Given the description of an element on the screen output the (x, y) to click on. 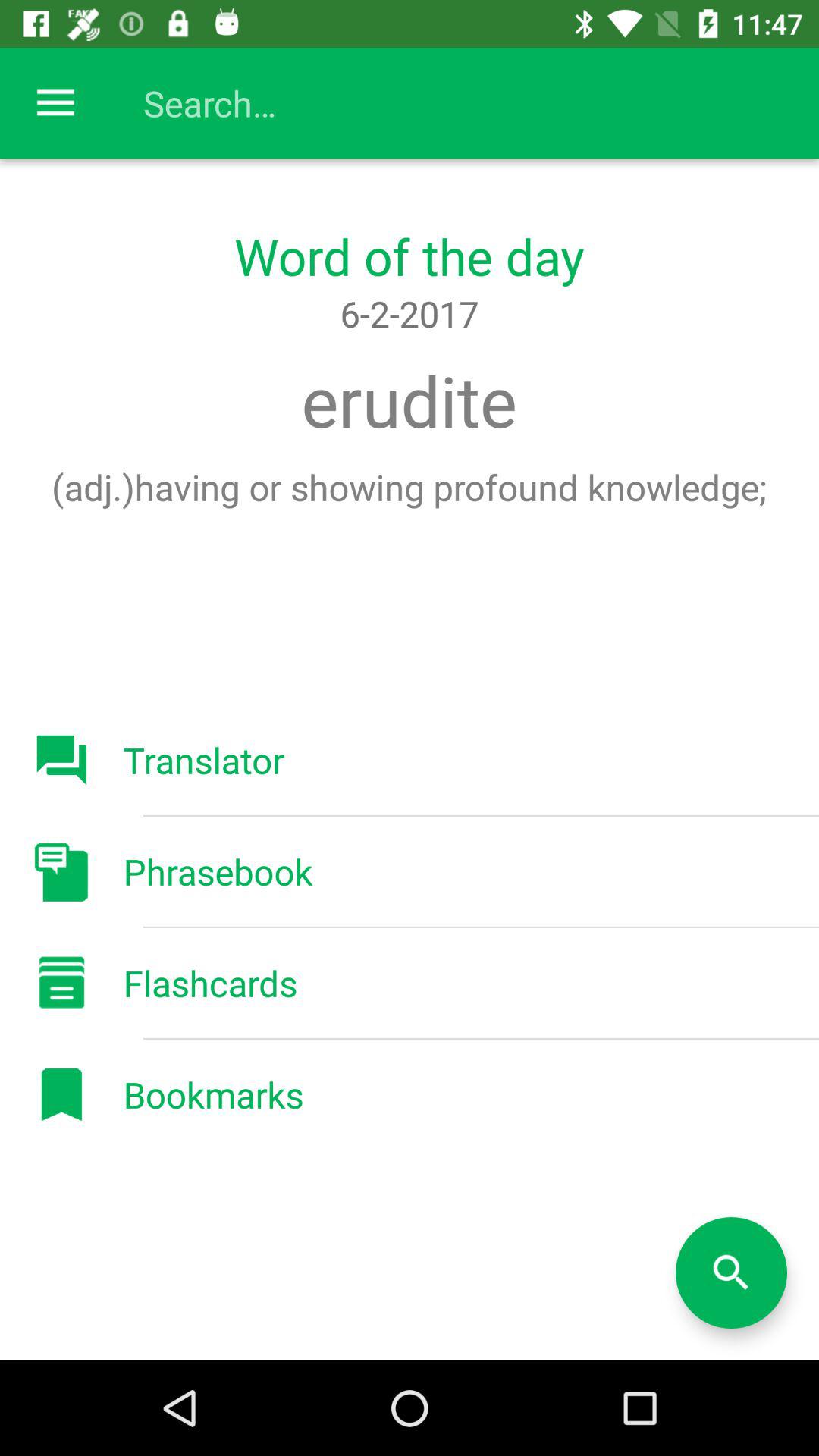
click on the button which says translator (61, 760)
choose the search button (731, 1273)
click on search bar (425, 102)
click on the button phrasebook (61, 871)
select the button flashcards (61, 983)
